Given the description of an element on the screen output the (x, y) to click on. 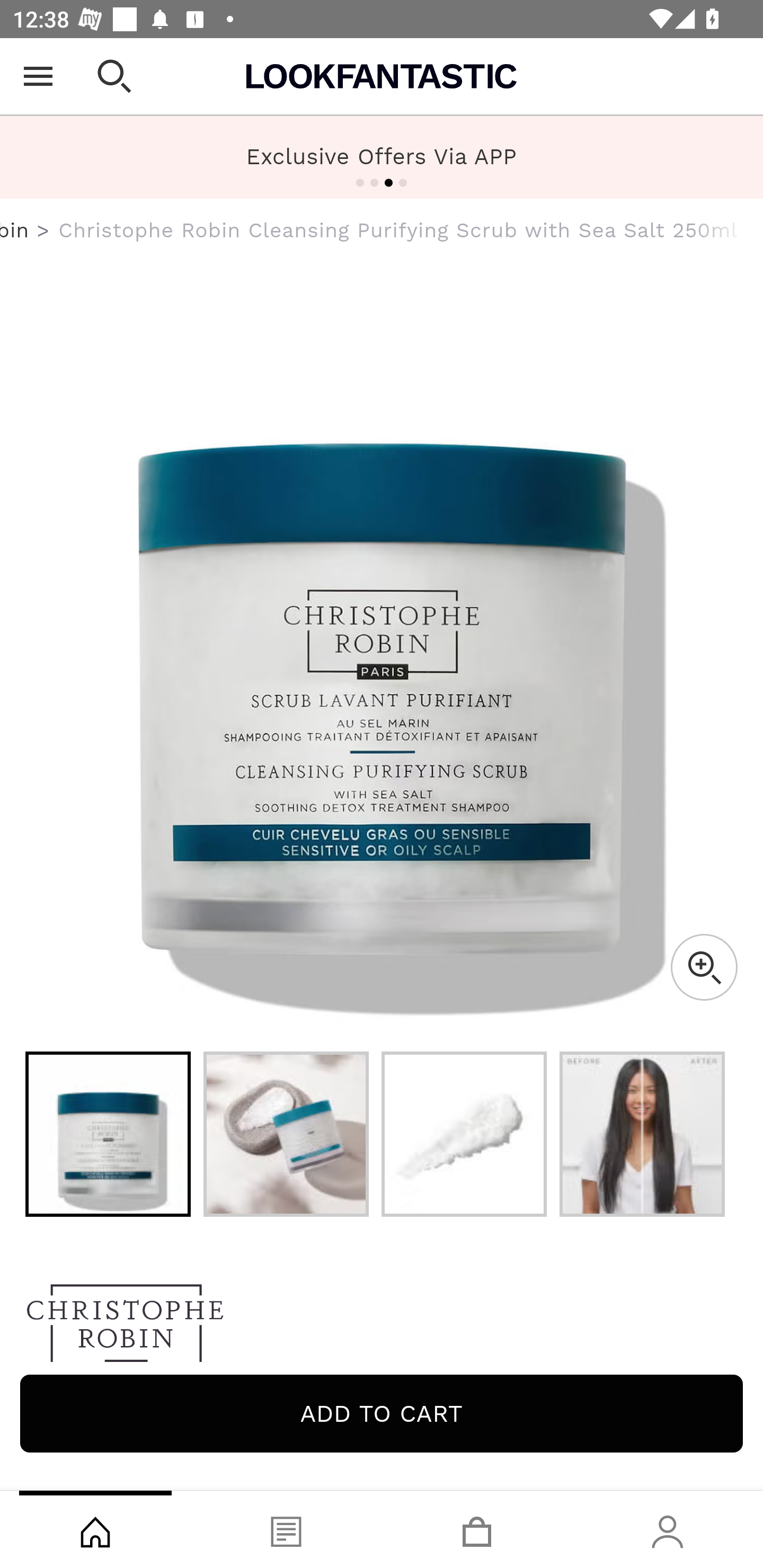
Open Menu (38, 75)
Close search (114, 75)
Lookfantastic USA (381, 75)
Christophe Robin (15, 230)
Zoom (703, 966)
Christophe Robin (381, 1327)
Add to cart (381, 1413)
Shop, tab, 1 of 4 (95, 1529)
Blog, tab, 2 of 4 (285, 1529)
Basket, tab, 3 of 4 (476, 1529)
Account, tab, 4 of 4 (667, 1529)
